Given the description of an element on the screen output the (x, y) to click on. 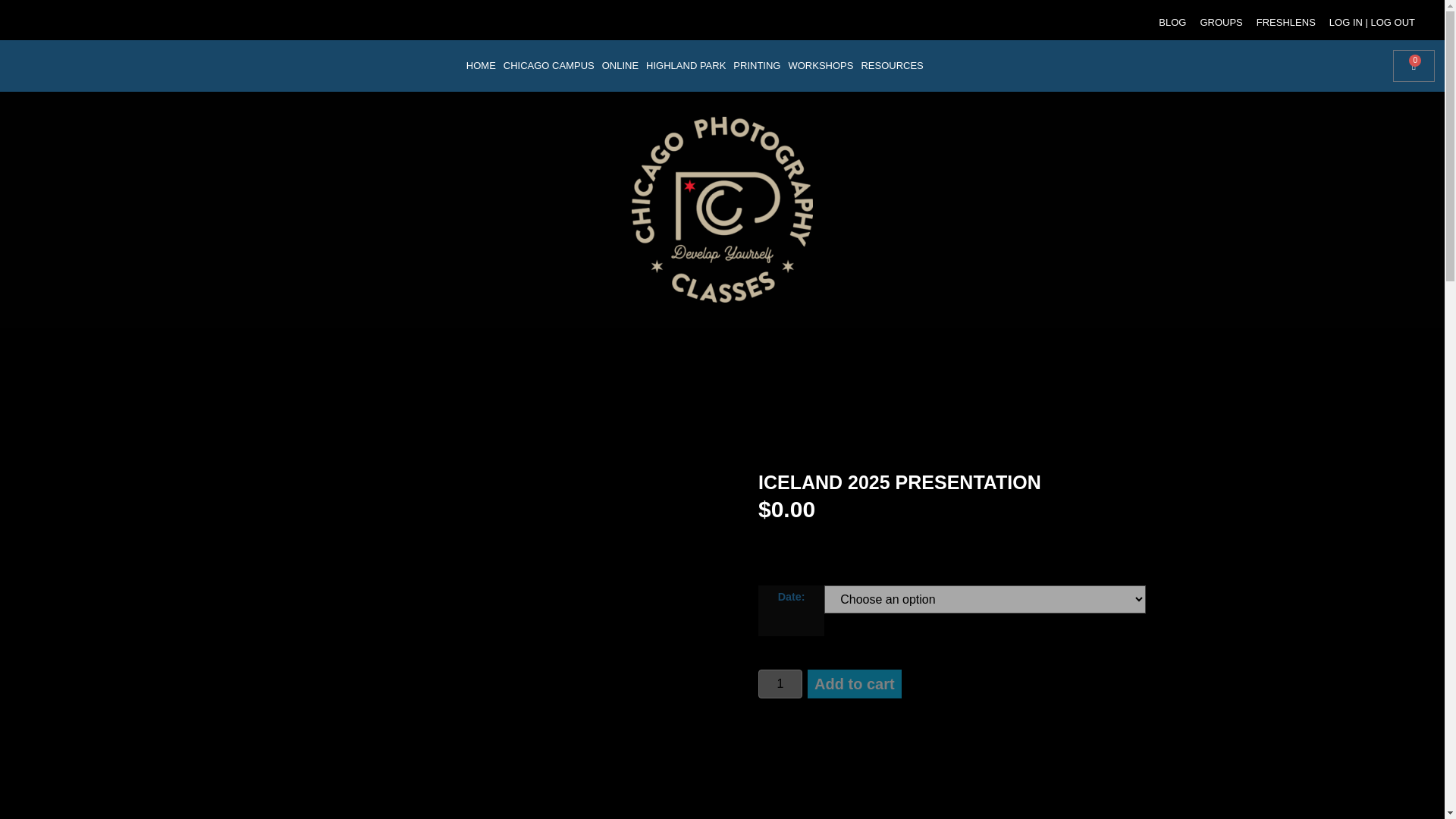
FRESHLENS (1285, 22)
CHICAGO CAMPUS (548, 65)
BLOG (1172, 22)
GROUPS (1220, 22)
1 (780, 683)
